Given the description of an element on the screen output the (x, y) to click on. 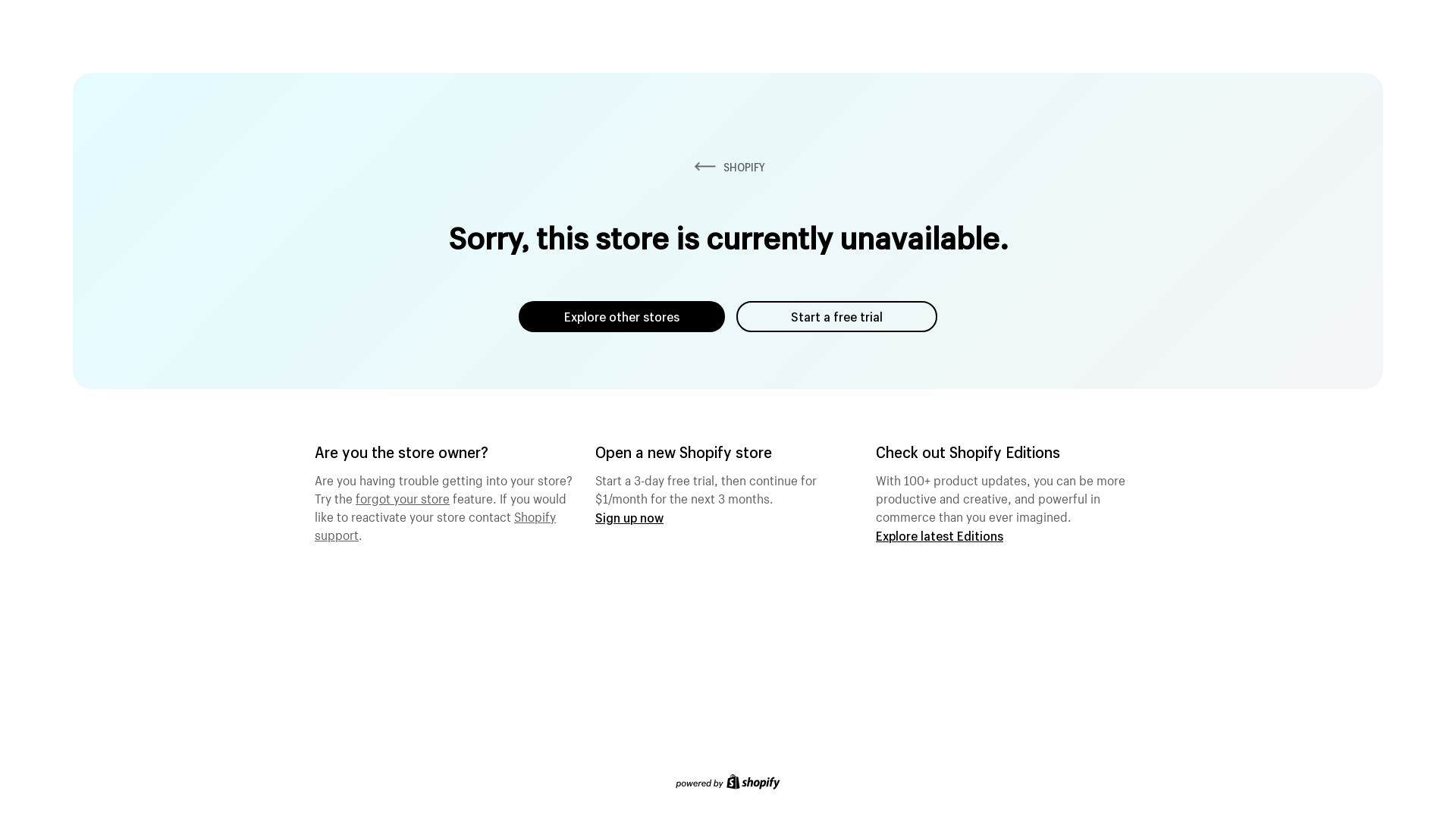
Sign up now Element type: text (629, 517)
Explore other stores Element type: text (621, 316)
Explore latest Editions Element type: text (939, 535)
forgot your store Element type: text (402, 496)
Shopify support Element type: text (434, 523)
Start a free trial Element type: text (836, 316)
SHOPIFY Element type: text (727, 167)
